Given the description of an element on the screen output the (x, y) to click on. 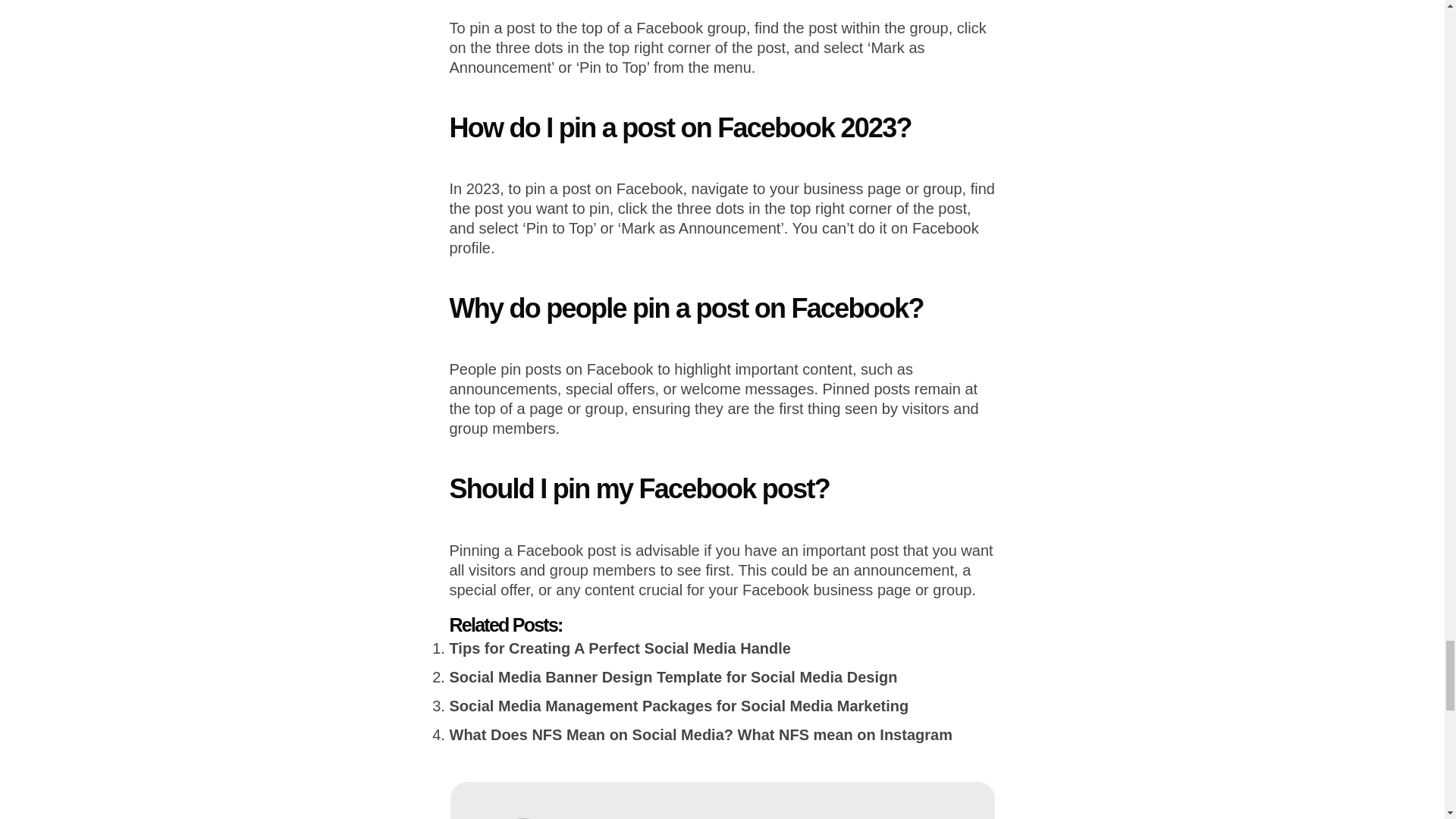
Social Media Banner Design Template for Social Media Design (672, 677)
Tips for Creating A Perfect Social Media Handle (619, 647)
Tips for Creating A Perfect Social Media Handle (619, 647)
Social Media Management Packages for Social Media Marketing (678, 705)
Social Media Banner Design Template for Social Media Design (672, 677)
Social Media Management Packages for Social Media Marketing (678, 705)
